Given the description of an element on the screen output the (x, y) to click on. 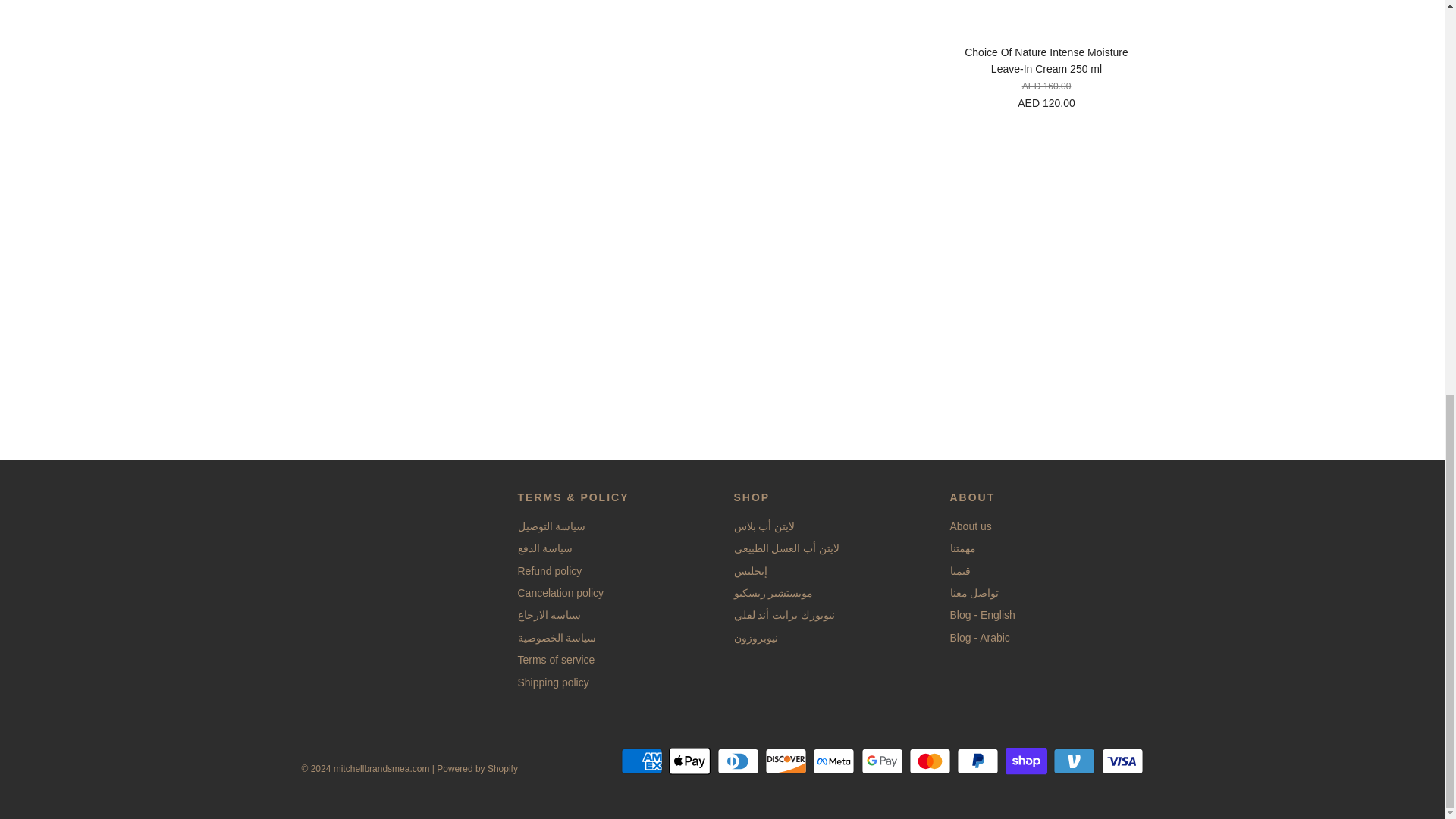
American Express (641, 761)
Meta Pay (833, 761)
Diners Club (737, 761)
Choice Of Nature Intense Moisture Leave-In Cream 250 ml (1045, 17)
Mastercard (929, 761)
Google Pay (881, 761)
Discover (785, 761)
Visa (1121, 761)
Shop Pay (1026, 761)
Venmo (1073, 761)
PayPal (977, 761)
Apple Pay (689, 761)
